Given the description of an element on the screen output the (x, y) to click on. 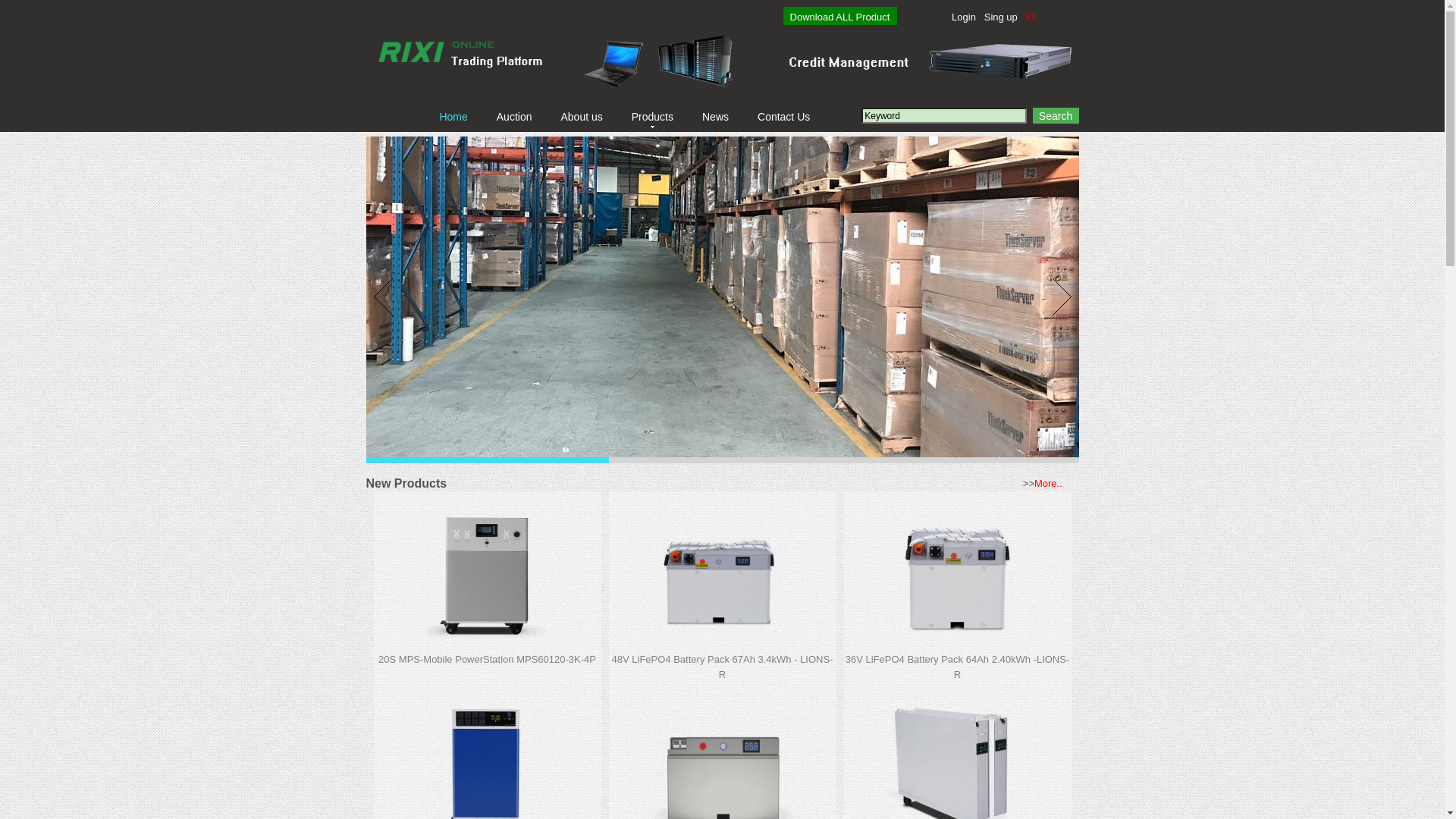
36V LiFePO4 Battery Pack 64Ah 2.40kWh -LIONS-R Element type: text (957, 666)
Download ALL Product Element type: text (840, 16)
>>More.. Element type: text (1042, 483)
Home Element type: text (453, 116)
Contact Us Element type: text (783, 116)
Products Element type: text (652, 116)
About us Element type: text (581, 116)
News Element type: text (715, 116)
20S MPS-Mobile PowerStation MPS60120-3K-4P Element type: text (487, 659)
Login Element type: text (963, 16)
Search Element type: text (1055, 115)
Auction Element type: text (514, 116)
48V LiFePO4 Battery Pack 67Ah 3.4kWh - LIONS-R Element type: text (722, 666)
Sing up Element type: text (1000, 16)
